Given the description of an element on the screen output the (x, y) to click on. 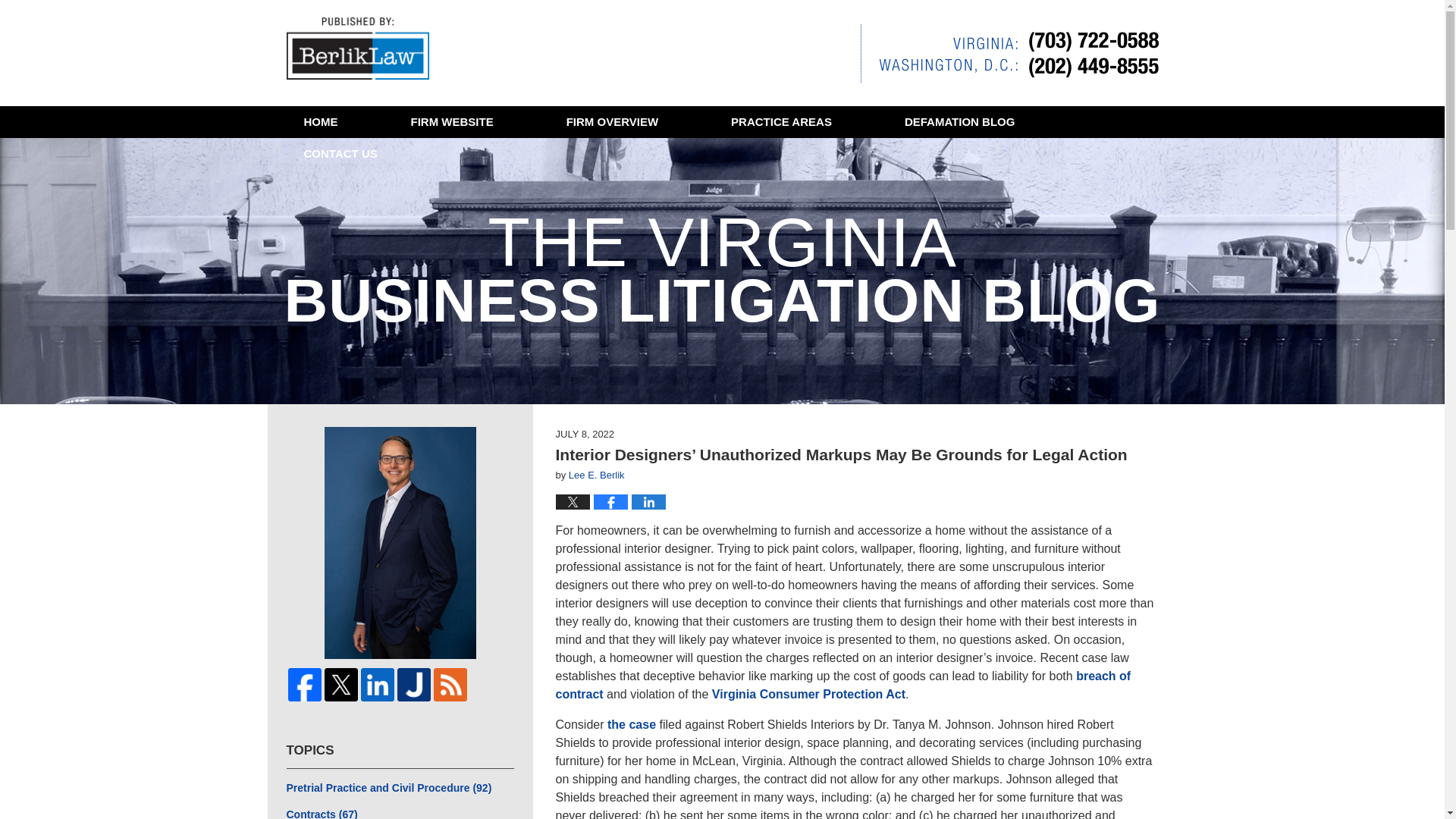
Justia (414, 684)
FIRM OVERVIEW (611, 122)
HOME (320, 122)
LinkedIn (377, 684)
FIRM WEBSITE (451, 122)
CONTACT US (339, 153)
Feed (450, 684)
the case (631, 724)
Lee E. Berlik (596, 474)
DEFAMATION BLOG (959, 122)
The Virginia Business Litigation Blog (357, 48)
breach of contract (842, 685)
Virginia Consumer Protection Act (808, 694)
Published By BerlikLaw LLC (1008, 53)
Facebook (304, 684)
